Given the description of an element on the screen output the (x, y) to click on. 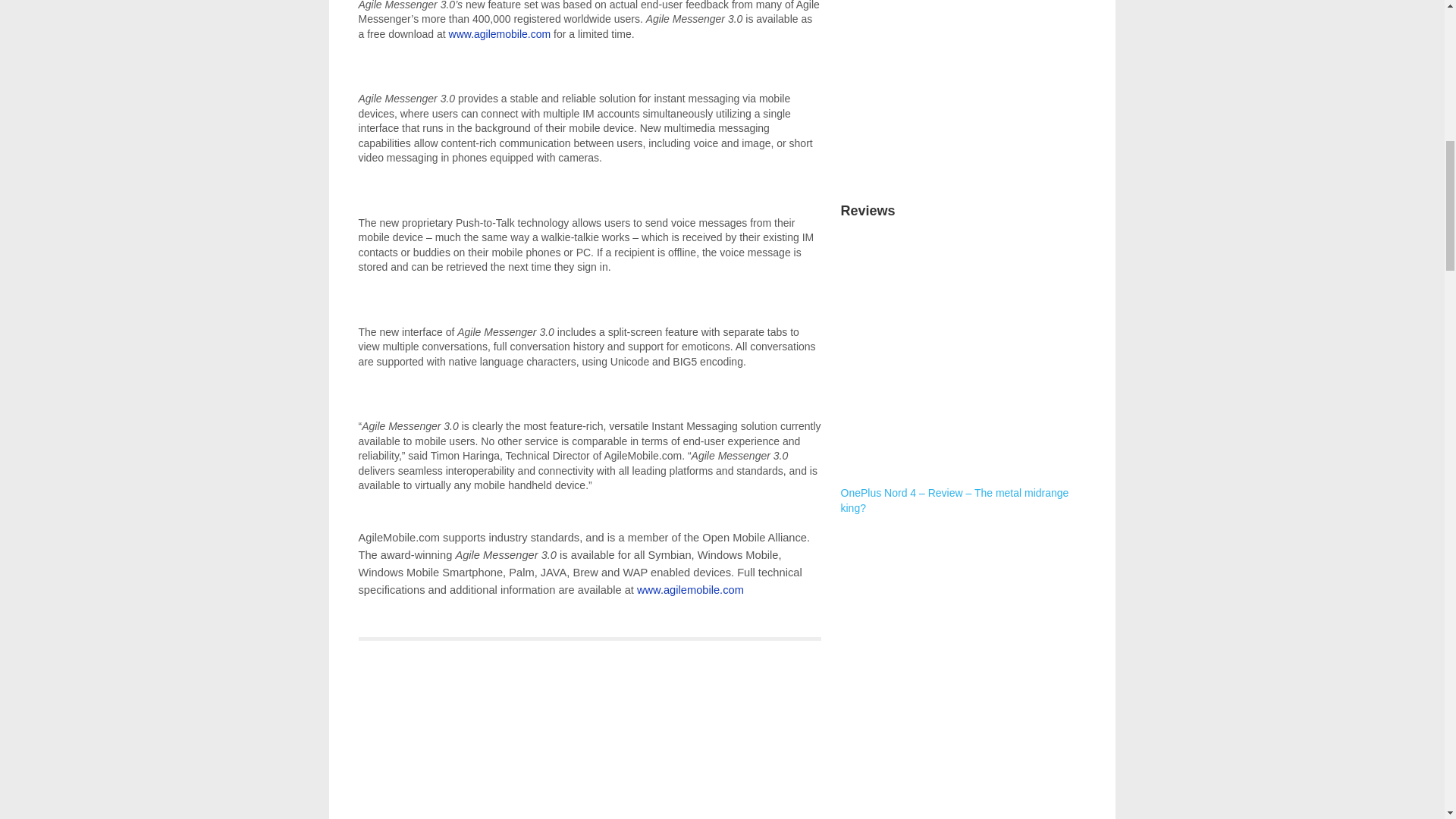
www.agilemobile.com (690, 589)
www.agilemobile.com (499, 33)
Advertisement (963, 621)
Advertisement (963, 86)
